Given the description of an element on the screen output the (x, y) to click on. 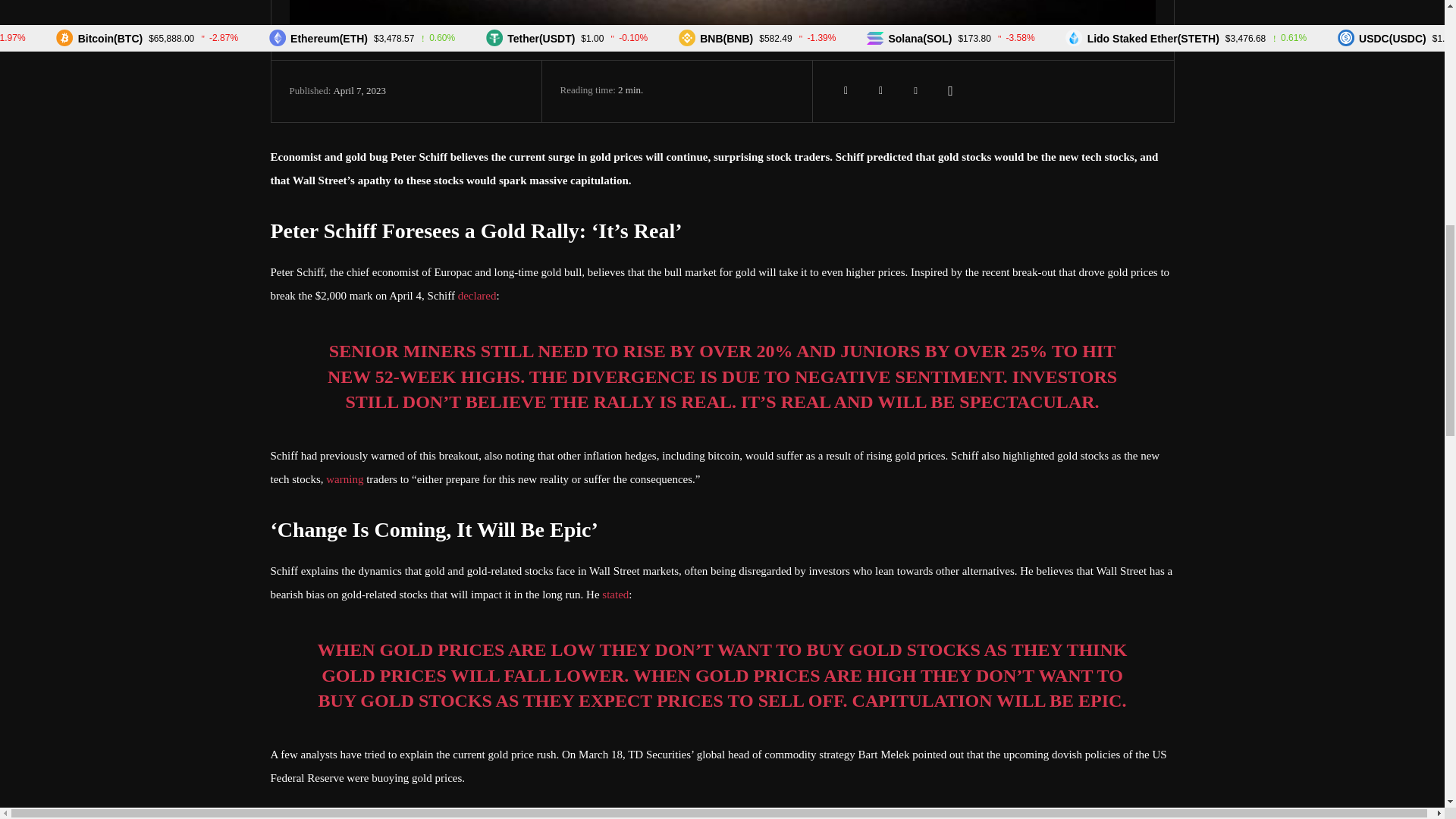
Pinterest (916, 91)
Facebook (846, 91)
WhatsApp (951, 91)
stated (615, 594)
warning (344, 479)
declared (477, 295)
Twitter (881, 91)
